Given the description of an element on the screen output the (x, y) to click on. 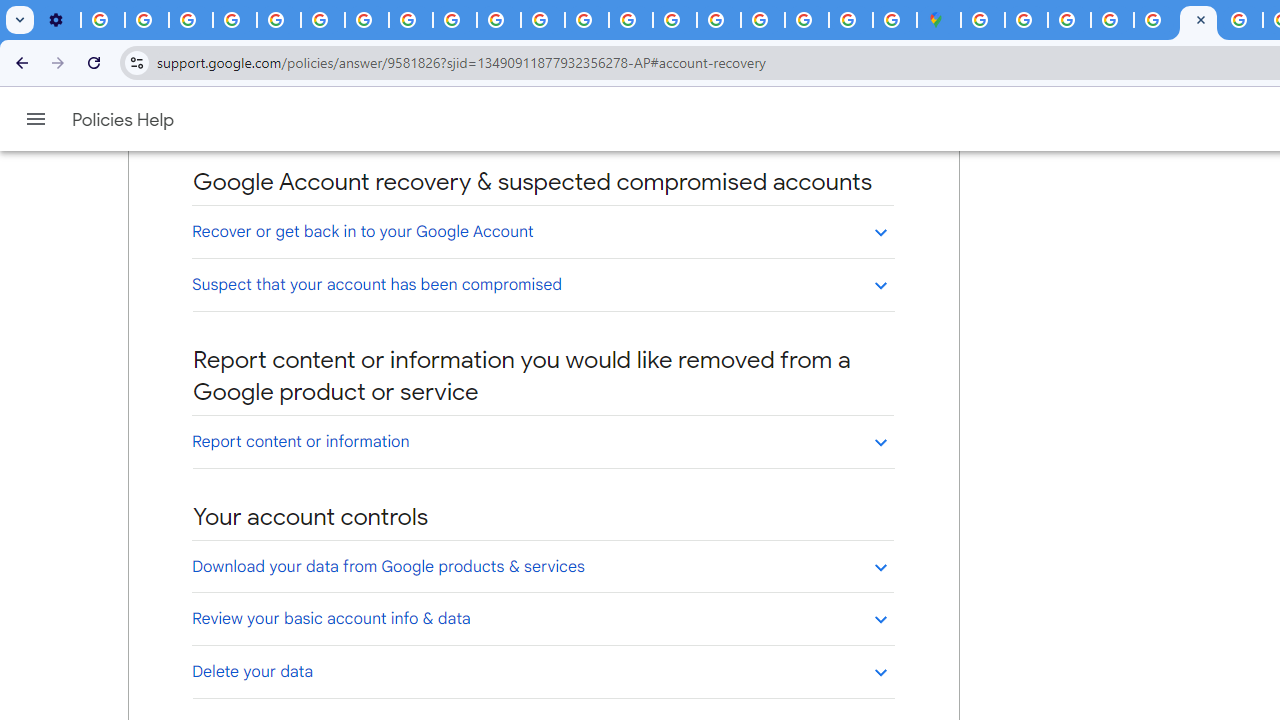
Sign in - Google Accounts (982, 20)
Review your basic account info & data (542, 618)
Privacy Checkup (454, 20)
Settings - Customize profile (58, 20)
Learn how to find your photos - Google Photos Help (146, 20)
Privacy Help Center - Policies Help (1197, 20)
Privacy Checkup (498, 20)
Policies Help (124, 119)
Main menu (35, 119)
Terms and Conditions (1155, 20)
help center and support forums (373, 121)
